Given the description of an element on the screen output the (x, y) to click on. 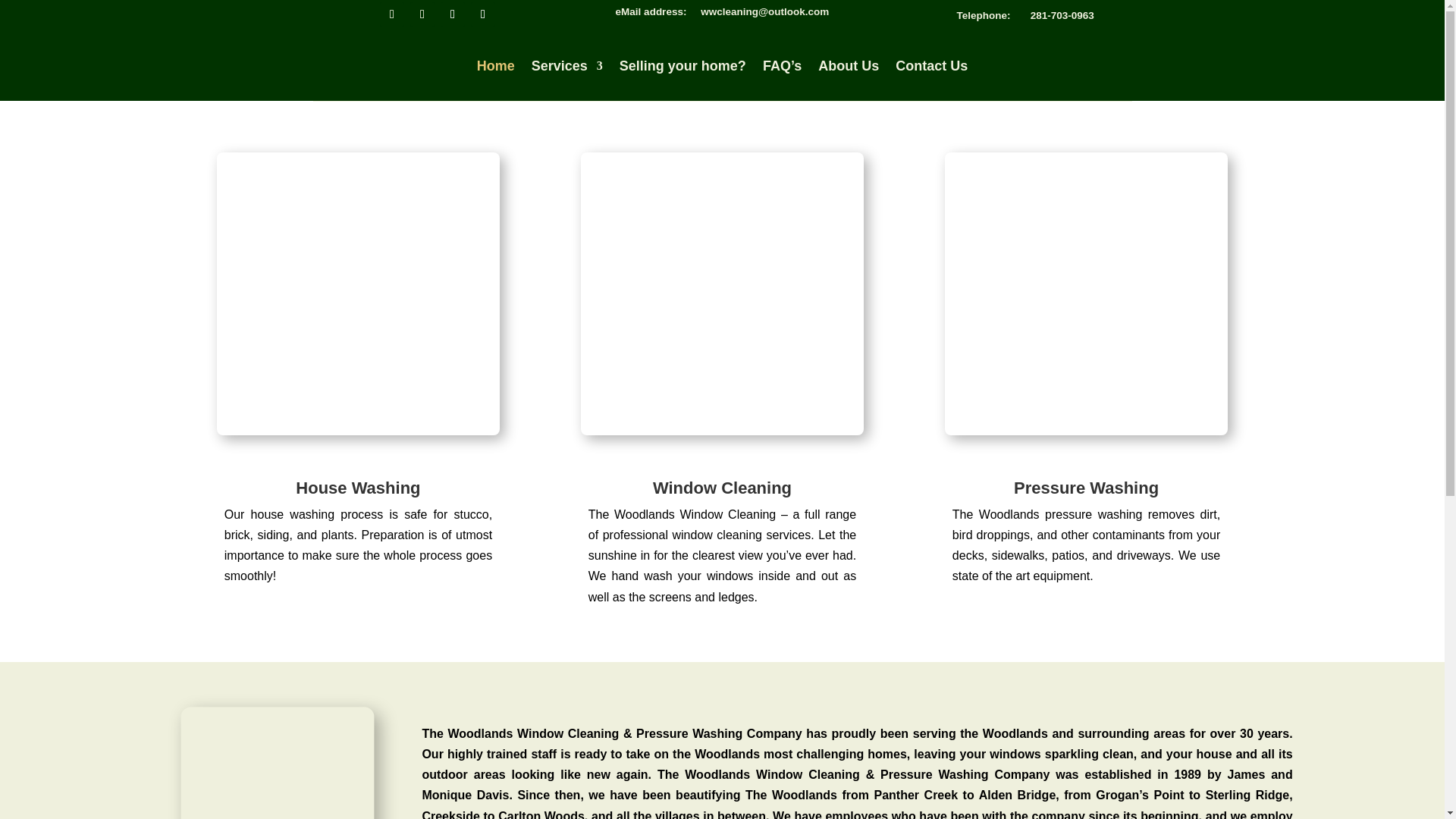
Contact Us (931, 65)
Services (566, 65)
Follow on Instagram (452, 14)
Telephone:       281-703-0963 (1024, 15)
Male janitor cleaning window with squeegee, closeup (721, 293)
Selling your home? (682, 65)
paving cleaning (1085, 293)
About Us (848, 65)
Follow on X (421, 14)
Follow on Facebook (392, 14)
